Given the description of an element on the screen output the (x, y) to click on. 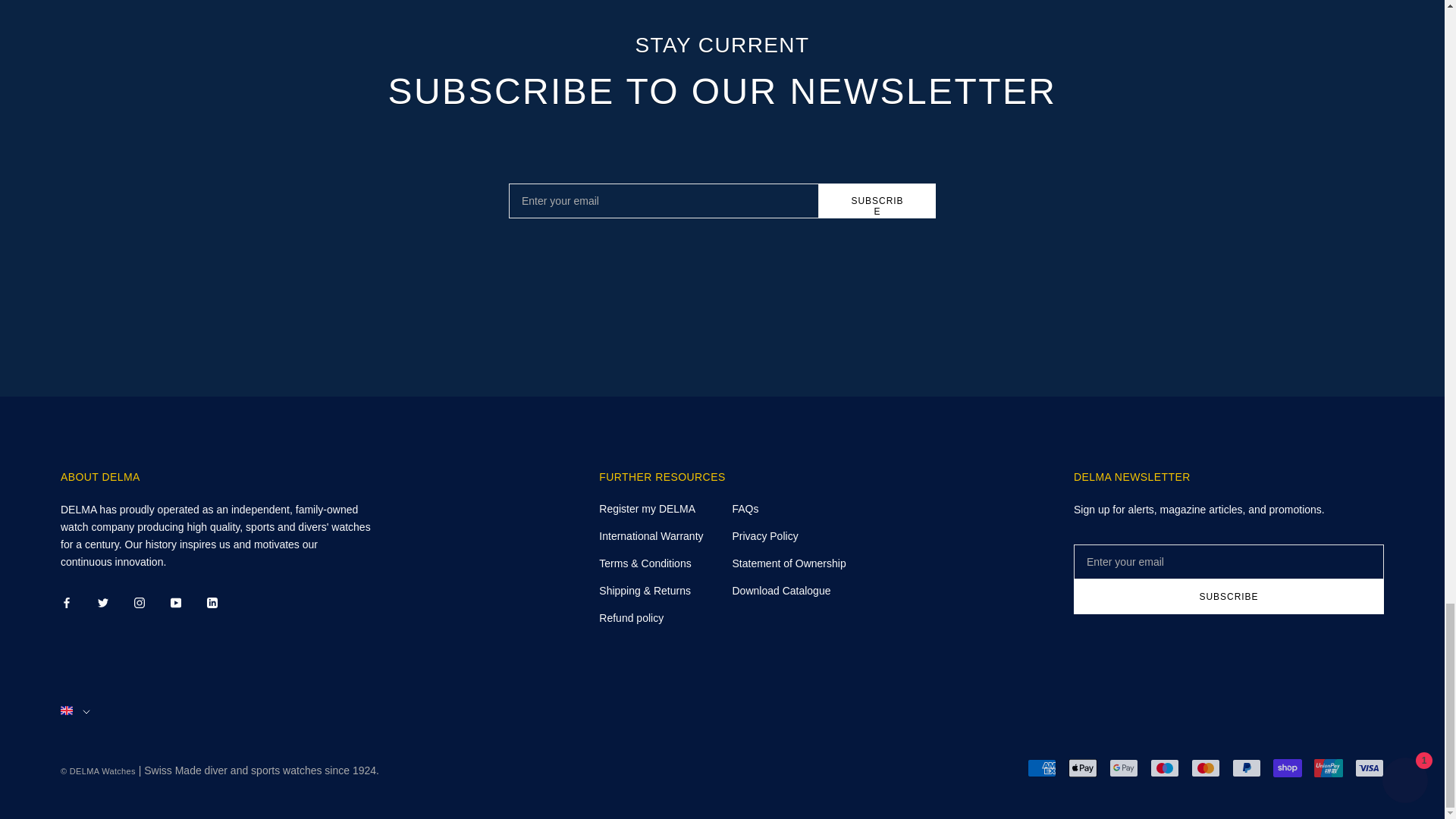
Google Pay (1123, 768)
Mastercard (1205, 768)
Maestro (1164, 768)
Shop Pay (1286, 768)
Apple Pay (1082, 768)
American Express (1042, 768)
PayPal (1245, 768)
